Given the description of an element on the screen output the (x, y) to click on. 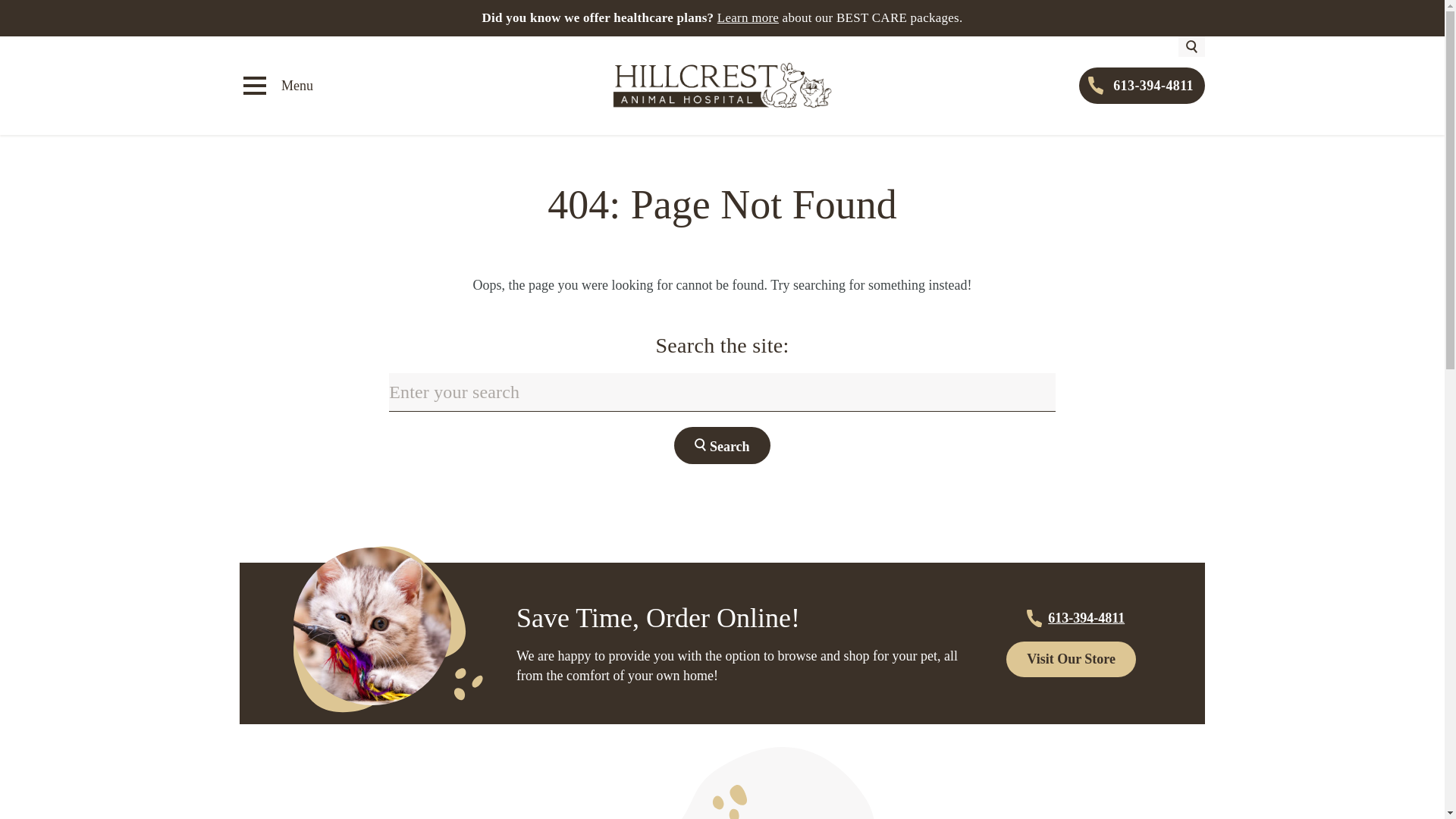
Learn more (747, 17)
613-394-4811 (1070, 618)
Search (722, 445)
613-394-4811 (1141, 85)
Visit Our Store (1070, 659)
